Given the description of an element on the screen output the (x, y) to click on. 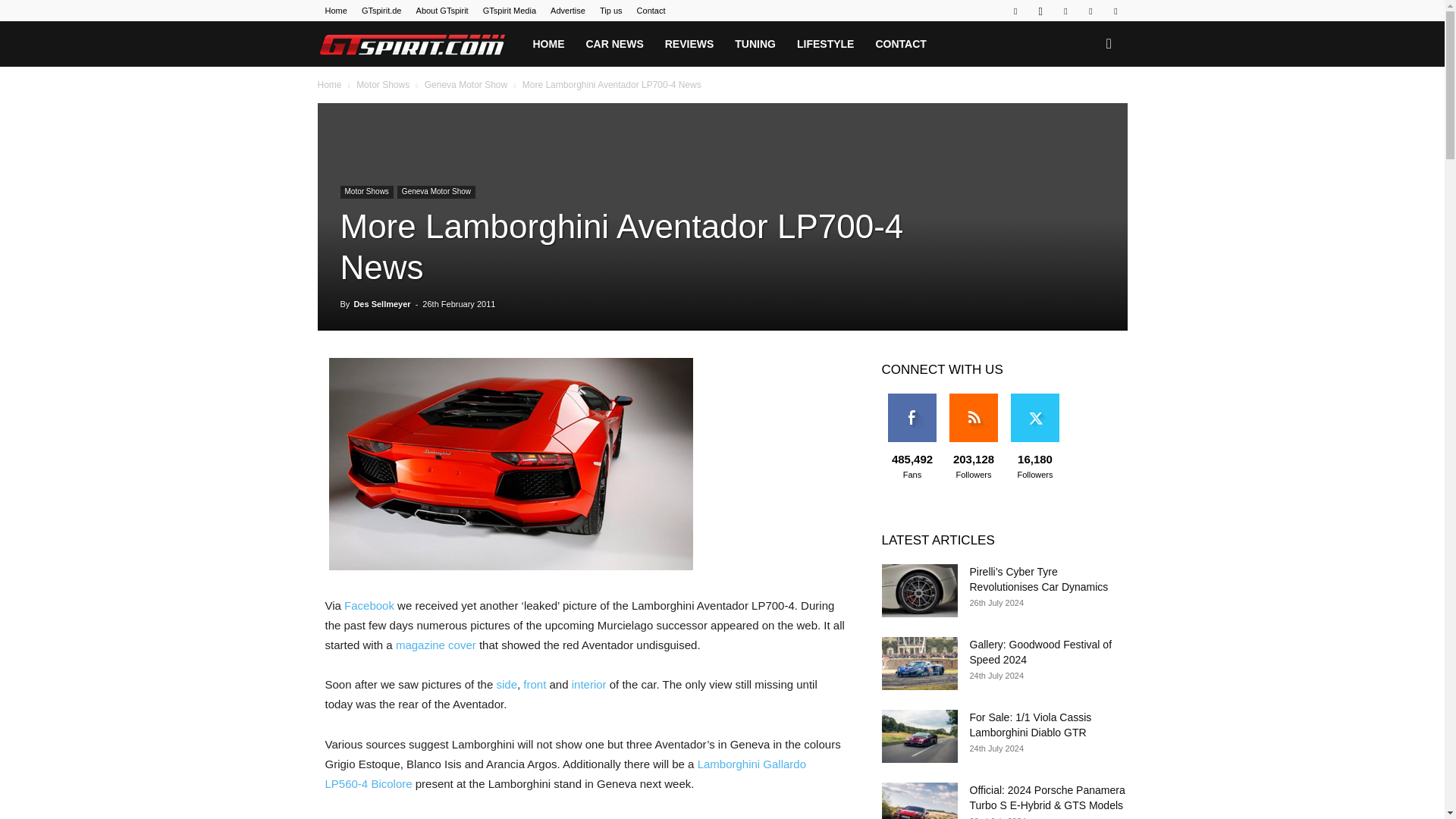
Facebook (1015, 10)
Youtube (1114, 10)
Contact (651, 10)
LIFESTYLE (825, 43)
GTspirit Media (509, 10)
Twitter (1090, 10)
View all posts in Geneva Motor Show (465, 84)
RSS (1065, 10)
REVIEWS (689, 43)
GTspirit (411, 44)
CONTACT (900, 43)
GTspirit (419, 43)
Tip us (611, 10)
Home (335, 10)
GTspirit.de (381, 10)
